Given the description of an element on the screen output the (x, y) to click on. 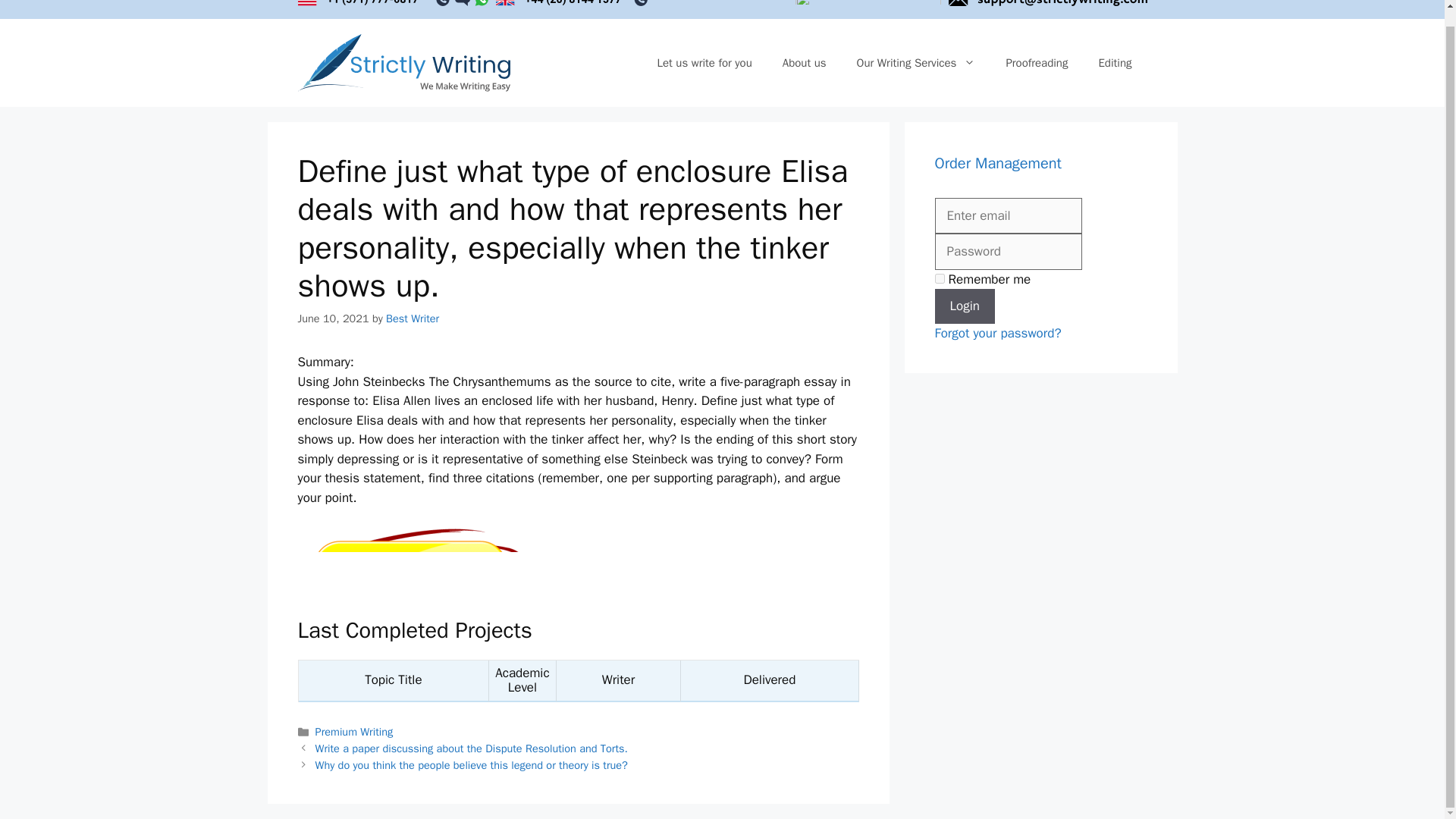
Our Writing Services (916, 62)
on (938, 278)
Let us write for you (704, 62)
Recover password (997, 333)
About us (804, 62)
click to Login (964, 306)
View all posts by Best Writer (412, 318)
Forgot your password? (997, 333)
Editing (1115, 62)
Proofreading (1036, 62)
Best Writer (412, 318)
Premium Writing (354, 731)
Login (964, 306)
